Given the description of an element on the screen output the (x, y) to click on. 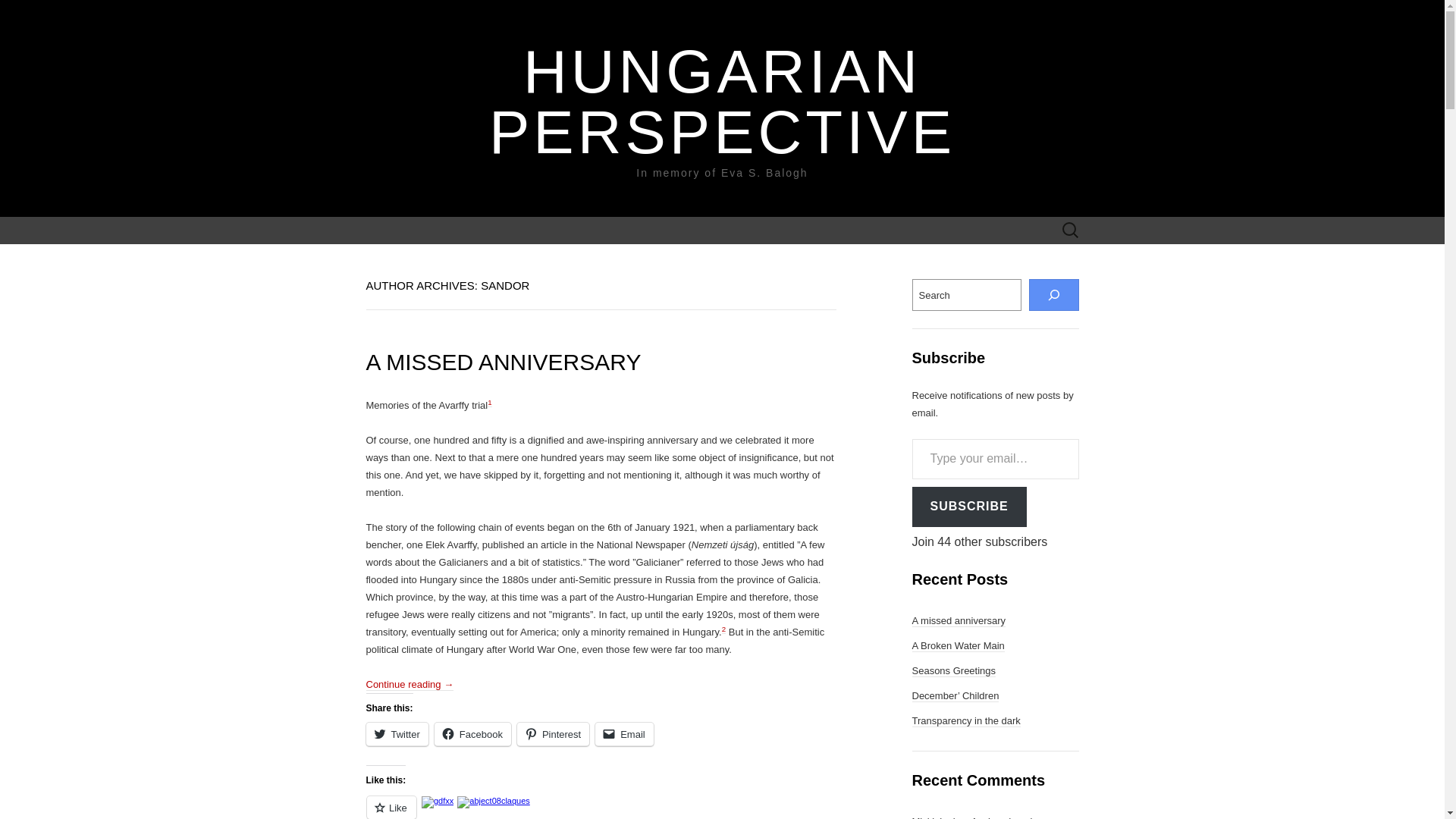
Pinterest (552, 734)
A MISSED ANNIVERSARY (502, 361)
Search (16, 12)
Facebook (472, 734)
Click to email a link to a friend (624, 734)
Email (624, 734)
Twitter (396, 734)
Hungarian Perspective (722, 101)
Like or Reblog (600, 807)
Click to share on Twitter (396, 734)
HUNGARIAN PERSPECTIVE (722, 101)
Click to share on Facebook (472, 734)
Click to share on Pinterest (552, 734)
